Given the description of an element on the screen output the (x, y) to click on. 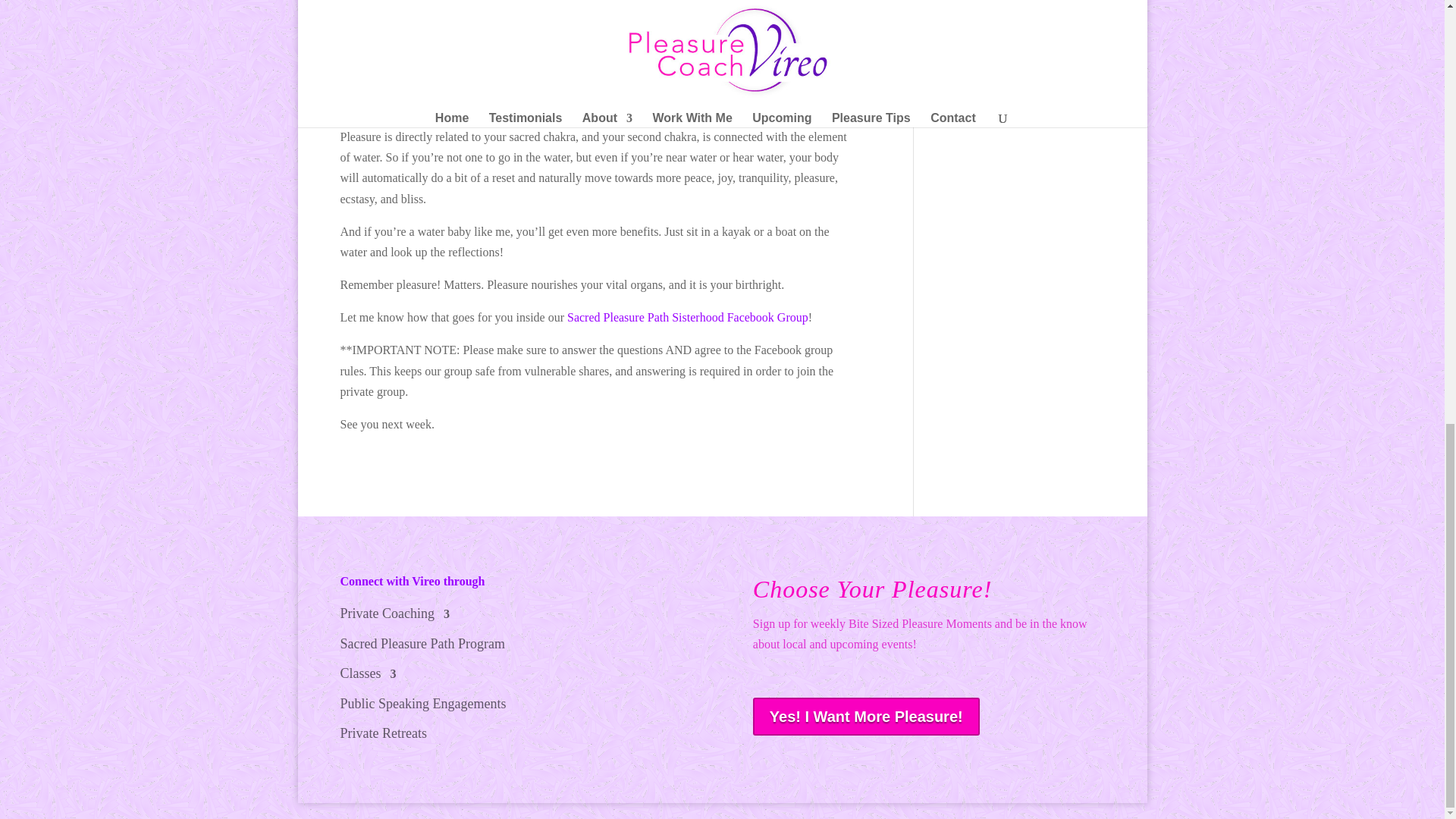
Classes (367, 676)
Sacred Pleasure Path Sisterhood Facebook Group (687, 317)
Private Retreats (382, 736)
Private Coaching (393, 616)
Public Speaking Engagements (422, 707)
Sacred Pleasure Path Program (421, 647)
